Given the description of an element on the screen output the (x, y) to click on. 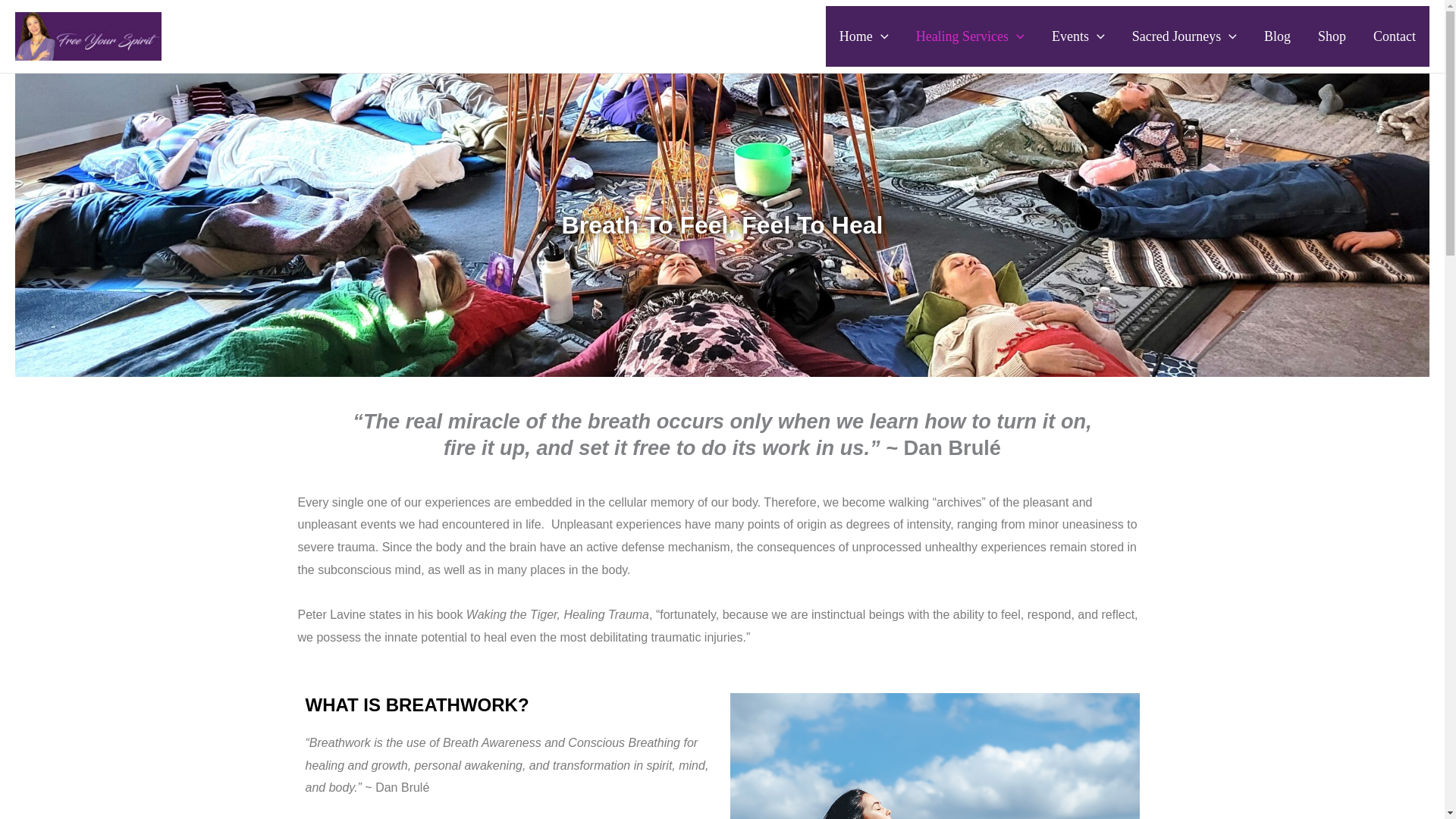
Contact (1394, 35)
Healing Services (970, 35)
Events (1078, 35)
Sacred Journeys (1184, 35)
Shop (1331, 35)
Home (863, 35)
